Given the description of an element on the screen output the (x, y) to click on. 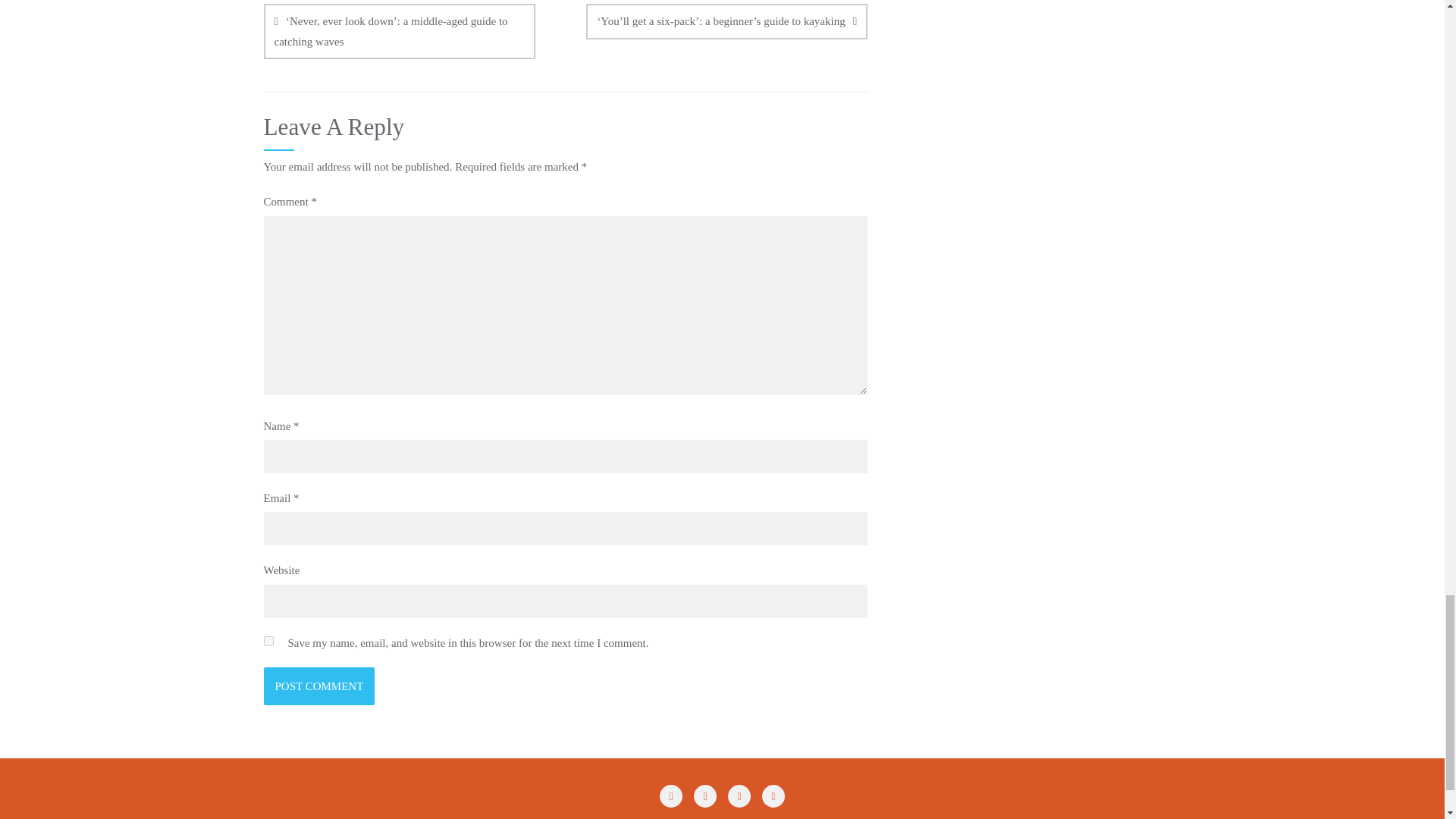
Post Comment (319, 686)
yes (268, 641)
Post Comment (319, 686)
